Given the description of an element on the screen output the (x, y) to click on. 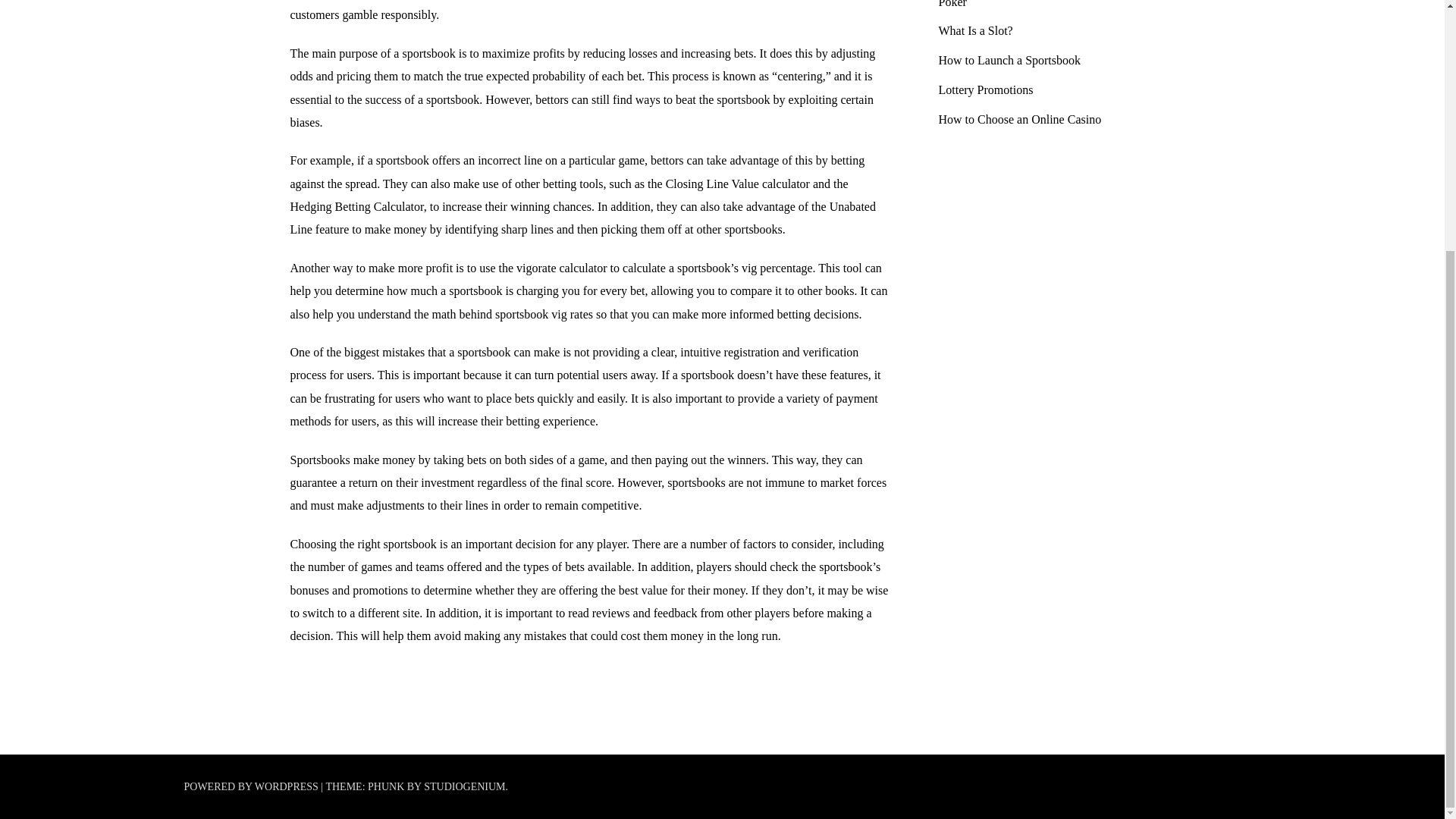
What Is a Slot? (976, 30)
How to Launch a Sportsbook (1010, 60)
Lottery Promotions (986, 89)
POWERED BY WORDPRESS (251, 786)
The Key Skills You Need to Succeed in Poker (1035, 4)
How to Choose an Online Casino (1020, 119)
STUDIOGENIUM (464, 786)
